Given the description of an element on the screen output the (x, y) to click on. 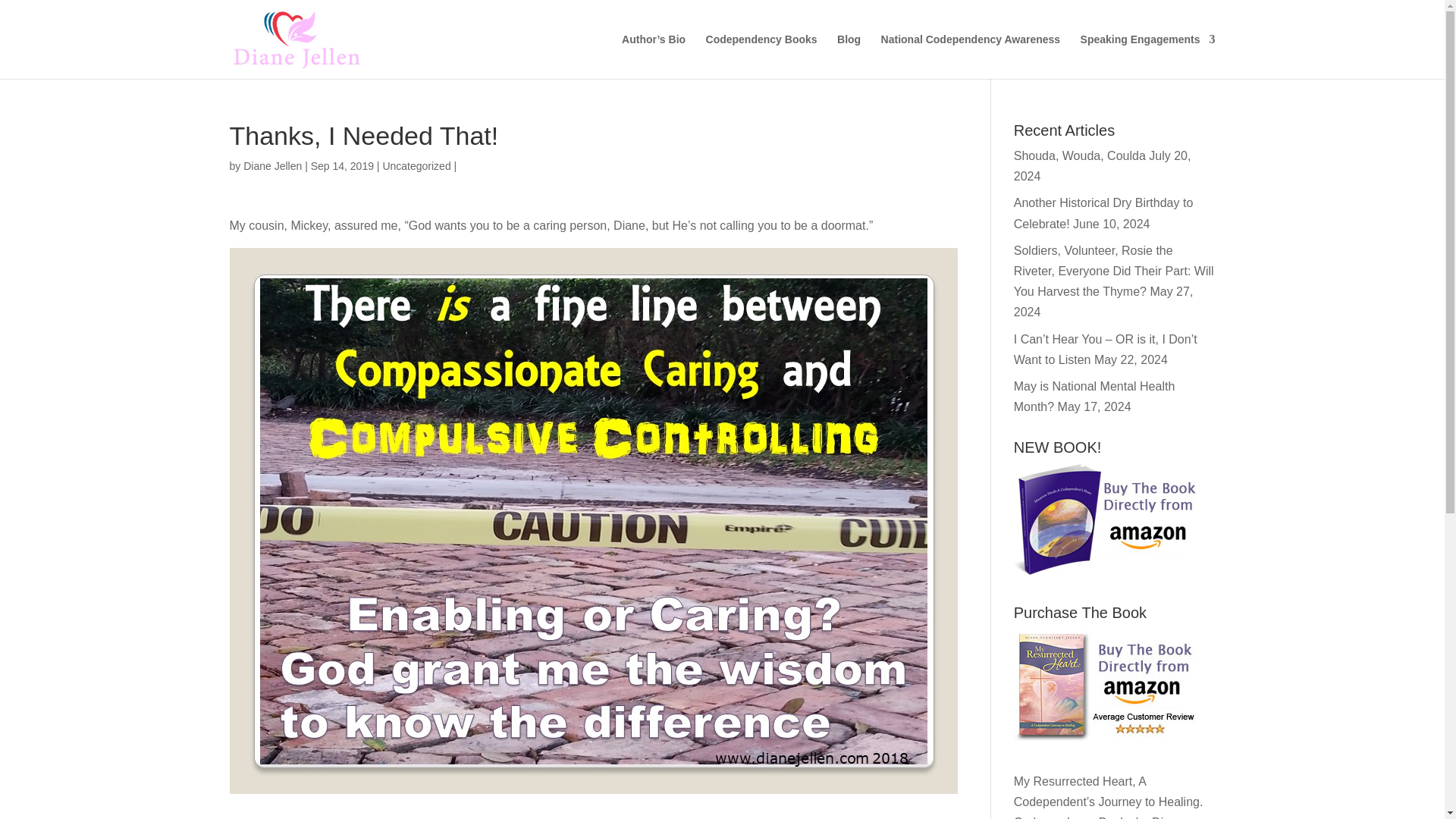
Another Historical Dry Birthday to Celebrate! (1103, 213)
Uncategorized (415, 165)
Codependency Books (761, 56)
Diane Jellen (272, 165)
May is National Mental Health Month? (1093, 396)
Posts by Diane Jellen (272, 165)
January is National Codependency Awareness Month (970, 56)
Shouda, Wouda, Coulda (1079, 155)
Speaking Engagements (1147, 56)
Purchase Diane's book, My Resurrected Heart, on Amazon (1107, 685)
National Codependency Awareness (970, 56)
